Given the description of an element on the screen output the (x, y) to click on. 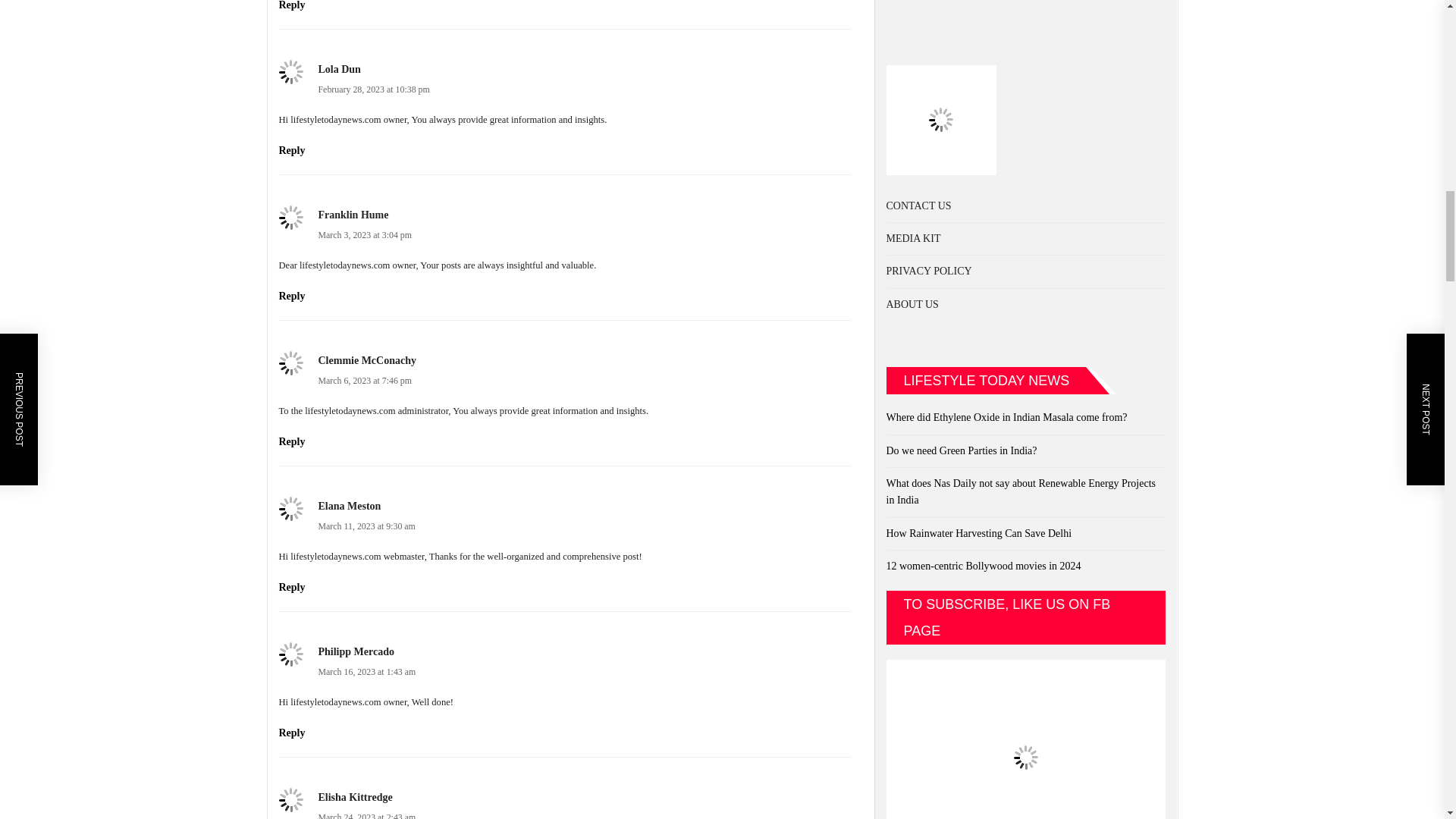
Spread The Vibe IndiBlogger Contest (940, 72)
